Given the description of an element on the screen output the (x, y) to click on. 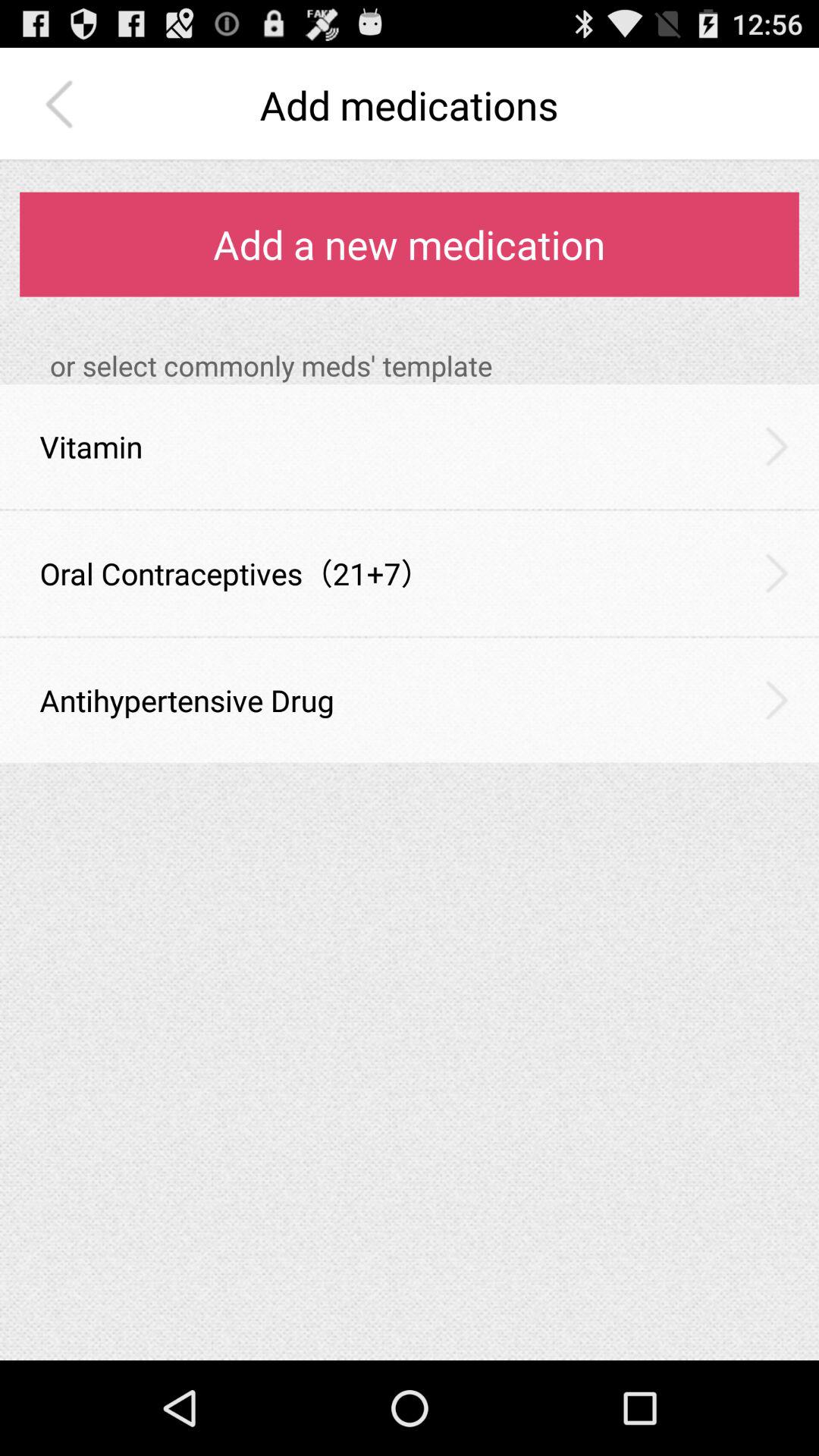
press app to the right of the antihypertensive drug (776, 699)
